Given the description of an element on the screen output the (x, y) to click on. 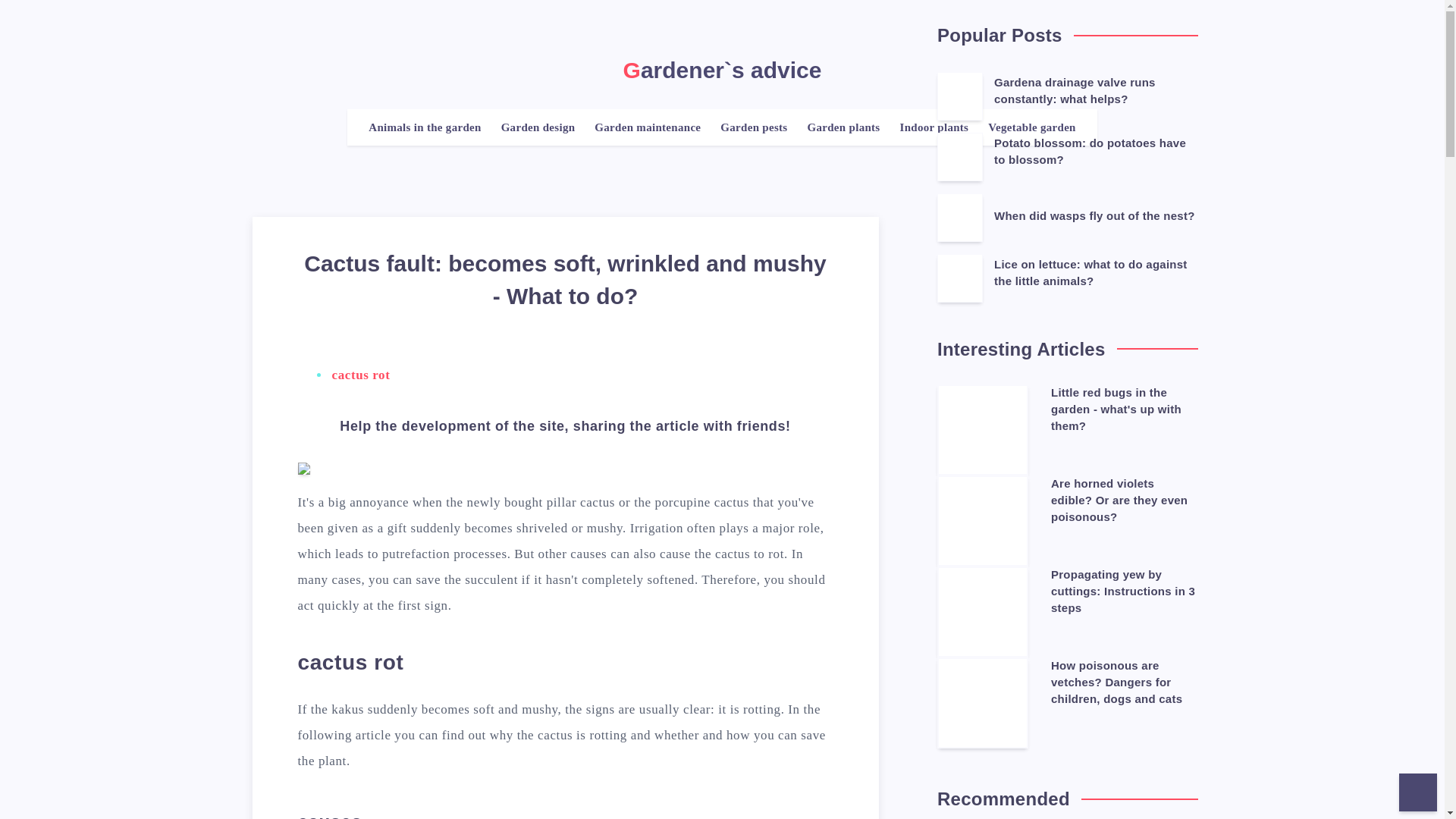
Garden design 2022 (537, 127)
cactus rot (360, 374)
Are horned violets edible? Or are they even poisonous? (1119, 501)
Vegetable garden (1031, 127)
Garden maintenance (647, 127)
Gardena drainage valve runs constantly: what helps? (1075, 92)
Indoor plants (934, 127)
Vegetable garden 2022 (1031, 127)
Animals in the garden (424, 127)
Garden design (537, 127)
Garden pests 2022 (753, 127)
Garden plants (842, 127)
Garden pests (753, 127)
Indoor plants 2022 (934, 127)
Garden maintenance 2022 (647, 127)
